Given the description of an element on the screen output the (x, y) to click on. 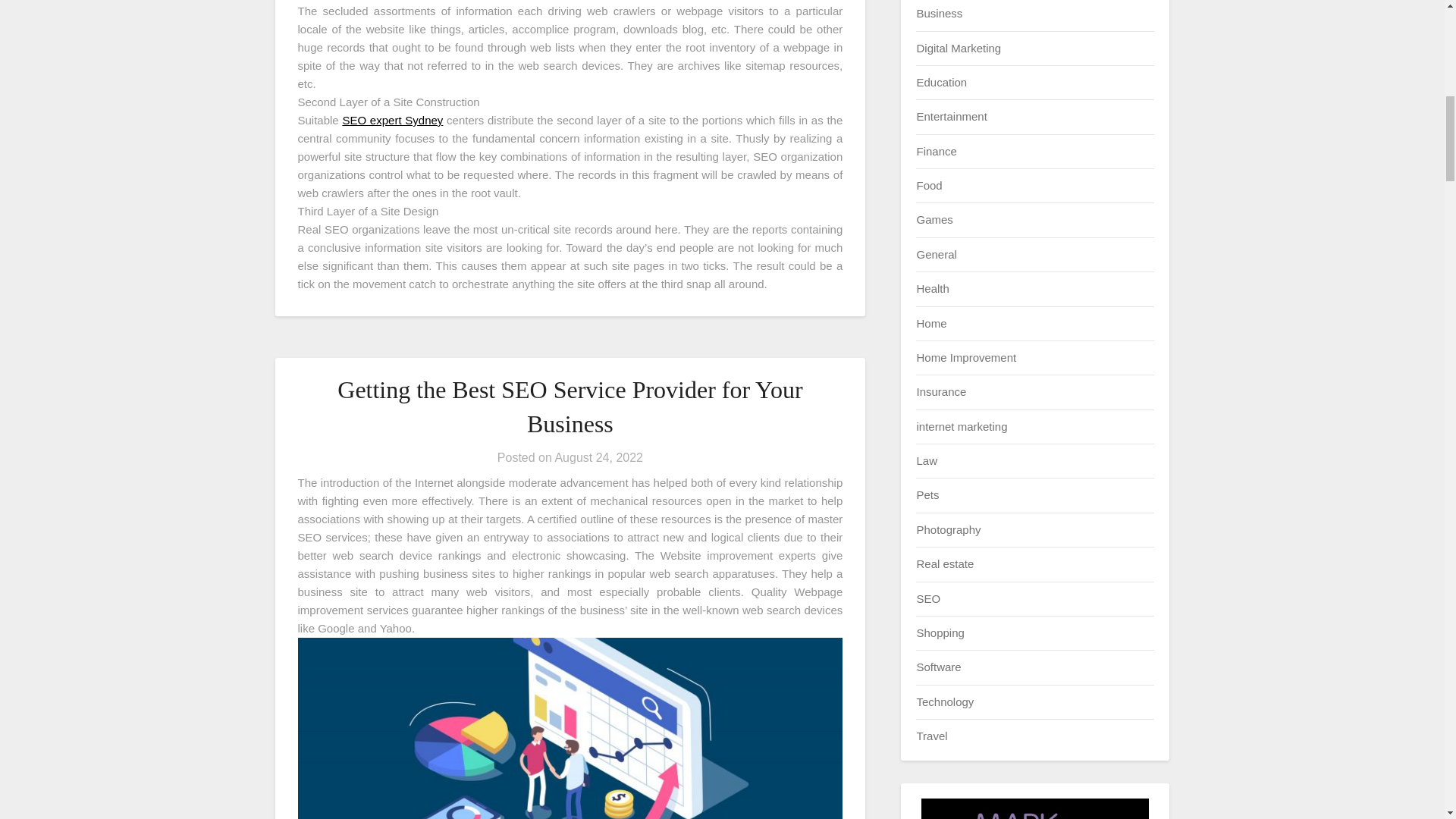
August 24, 2022 (598, 457)
SEO expert Sydney (392, 119)
Getting the Best SEO Service Provider for Your Business (569, 406)
